Given the description of an element on the screen output the (x, y) to click on. 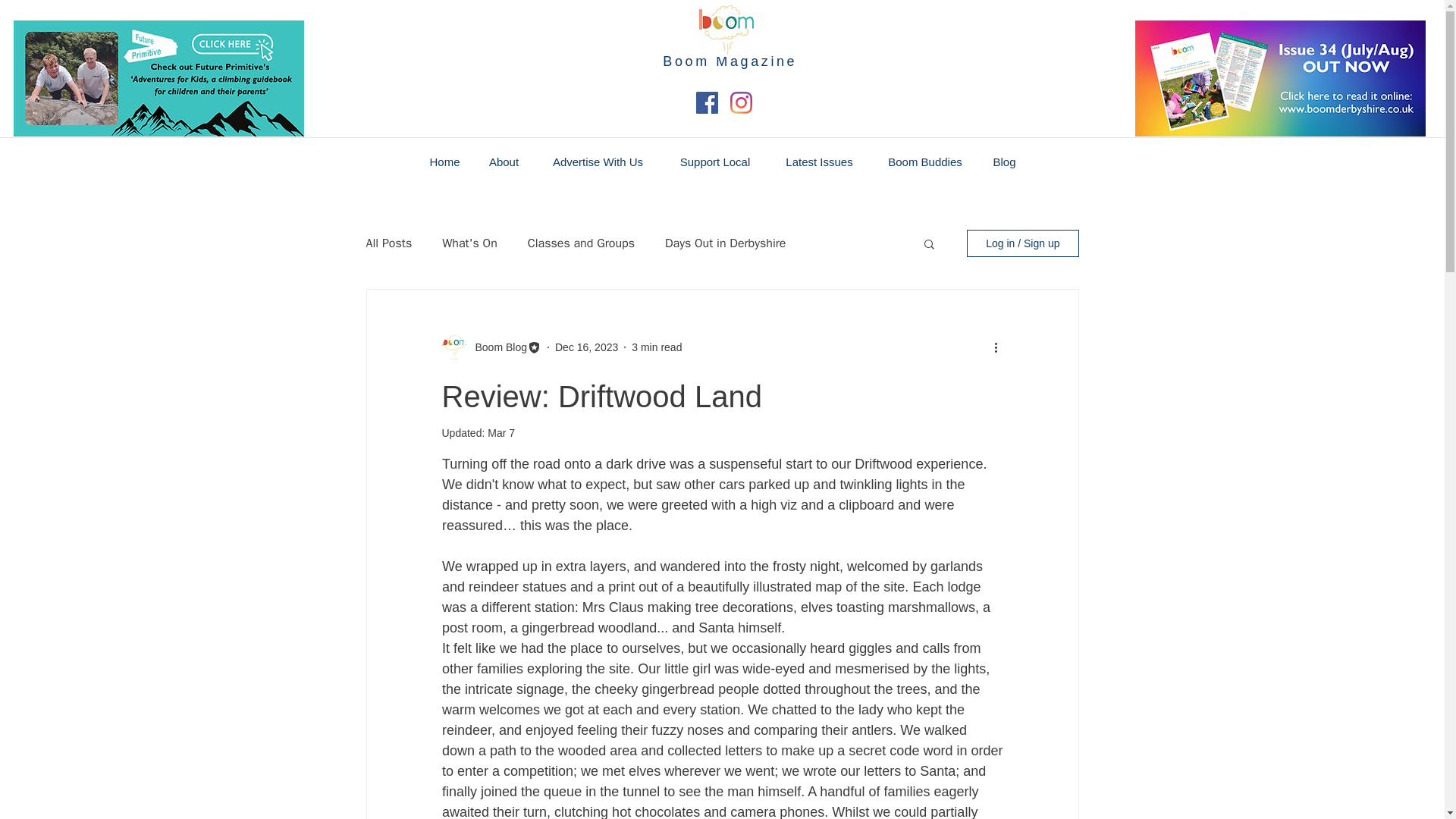
Boom Magazine (729, 61)
Days Out in Derbyshire (725, 242)
Blog (1004, 161)
Boom Buddies (924, 161)
Latest Issues (819, 161)
Boom Blog (495, 347)
All Posts (388, 242)
Home (444, 161)
Advertise With Us (598, 161)
Mar 7 (501, 432)
